Given the description of an element on the screen output the (x, y) to click on. 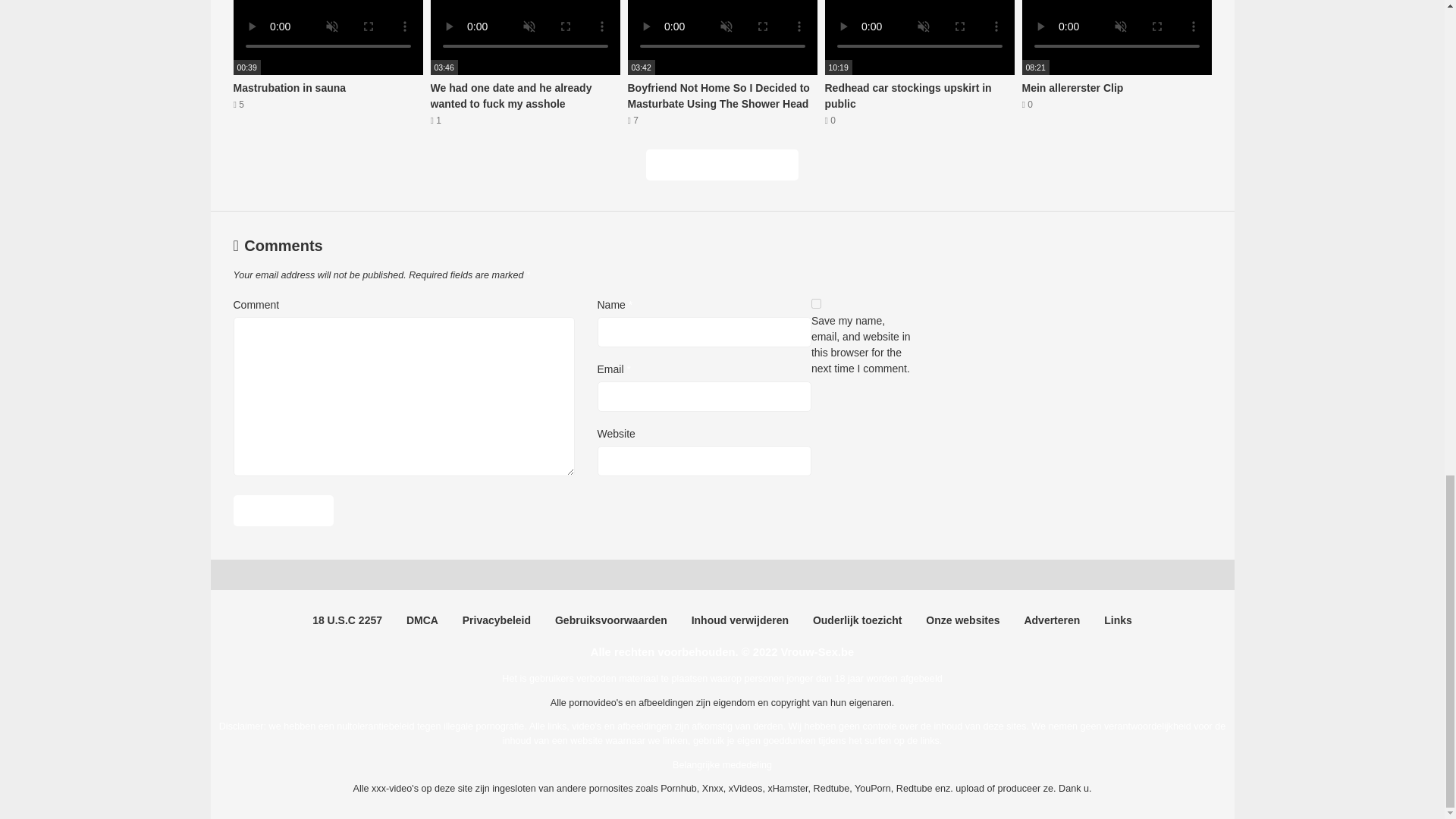
yes (815, 303)
Post Comment (327, 63)
